Given the description of an element on the screen output the (x, y) to click on. 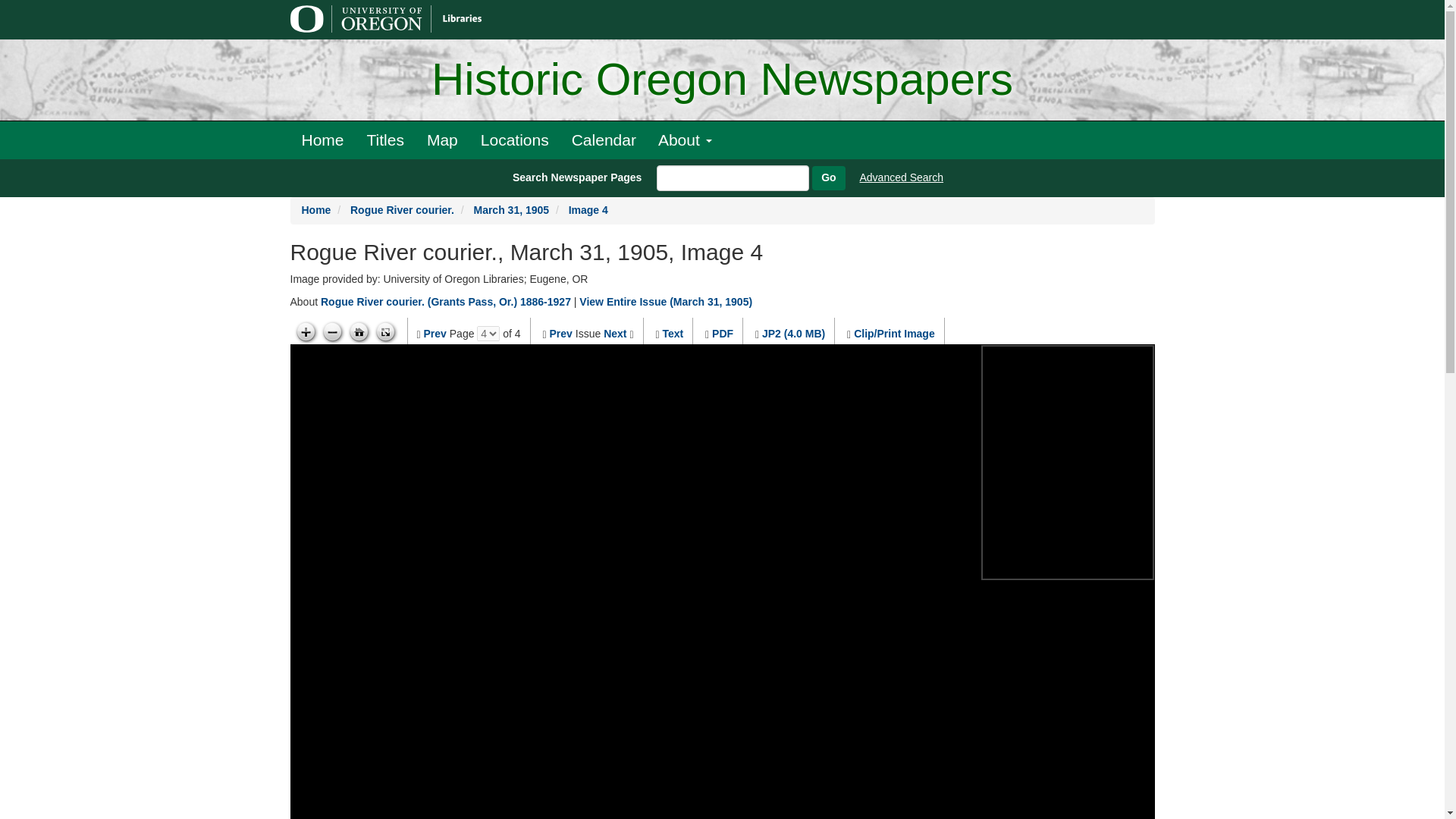
Calendar (603, 139)
PDF (722, 333)
Go home (359, 332)
Map (441, 139)
Go (828, 178)
Zoom in (305, 332)
Home (316, 209)
About (684, 140)
Prev (434, 333)
Image 4 (588, 209)
Locations (514, 139)
March 31, 1905 (510, 209)
Zoom out (332, 332)
Prev (561, 333)
Advanced Search (901, 177)
